Given the description of an element on the screen output the (x, y) to click on. 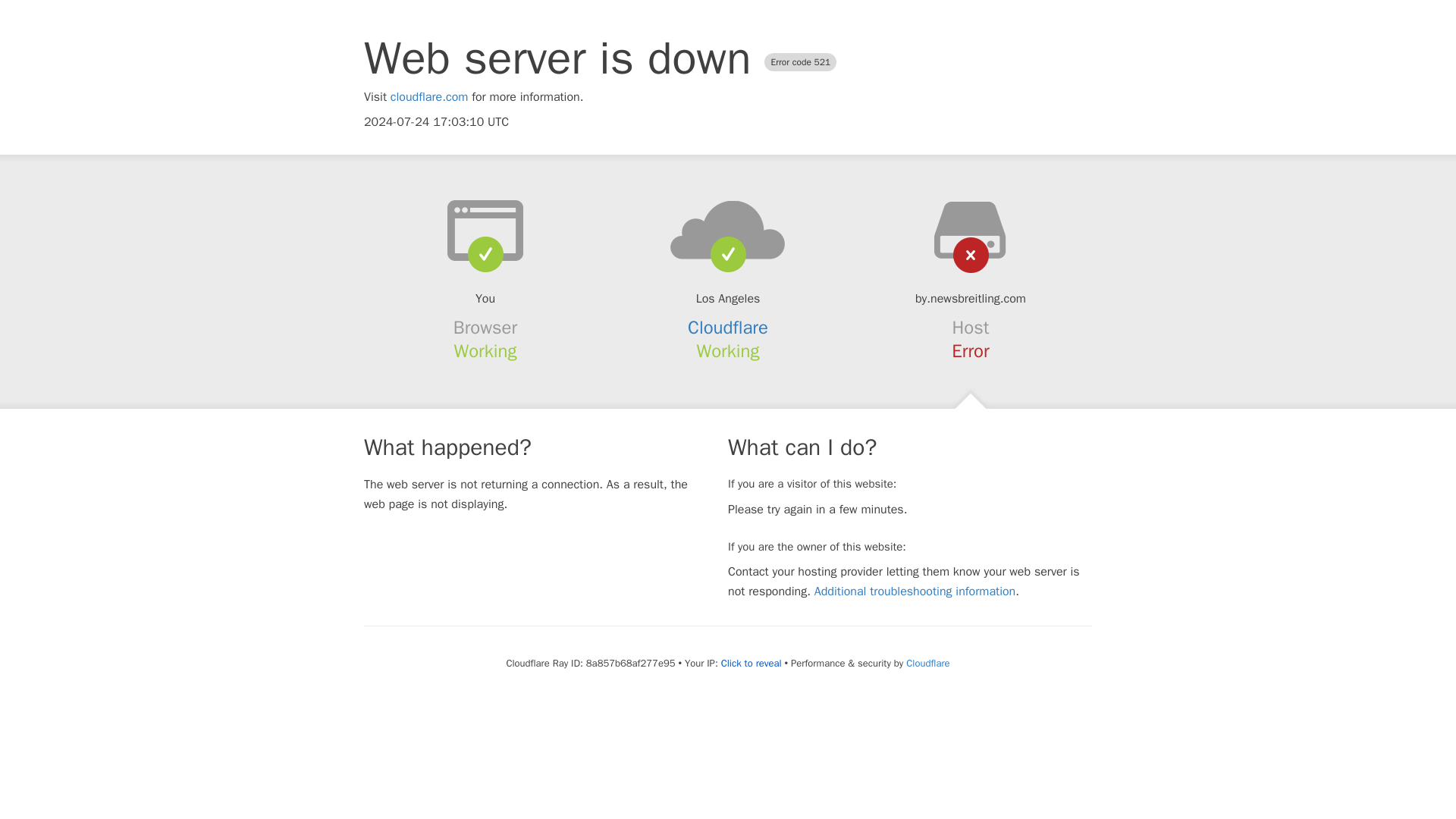
Cloudflare (927, 662)
Click to reveal (750, 663)
Cloudflare (727, 327)
Additional troubleshooting information (913, 590)
cloudflare.com (429, 96)
